Given the description of an element on the screen output the (x, y) to click on. 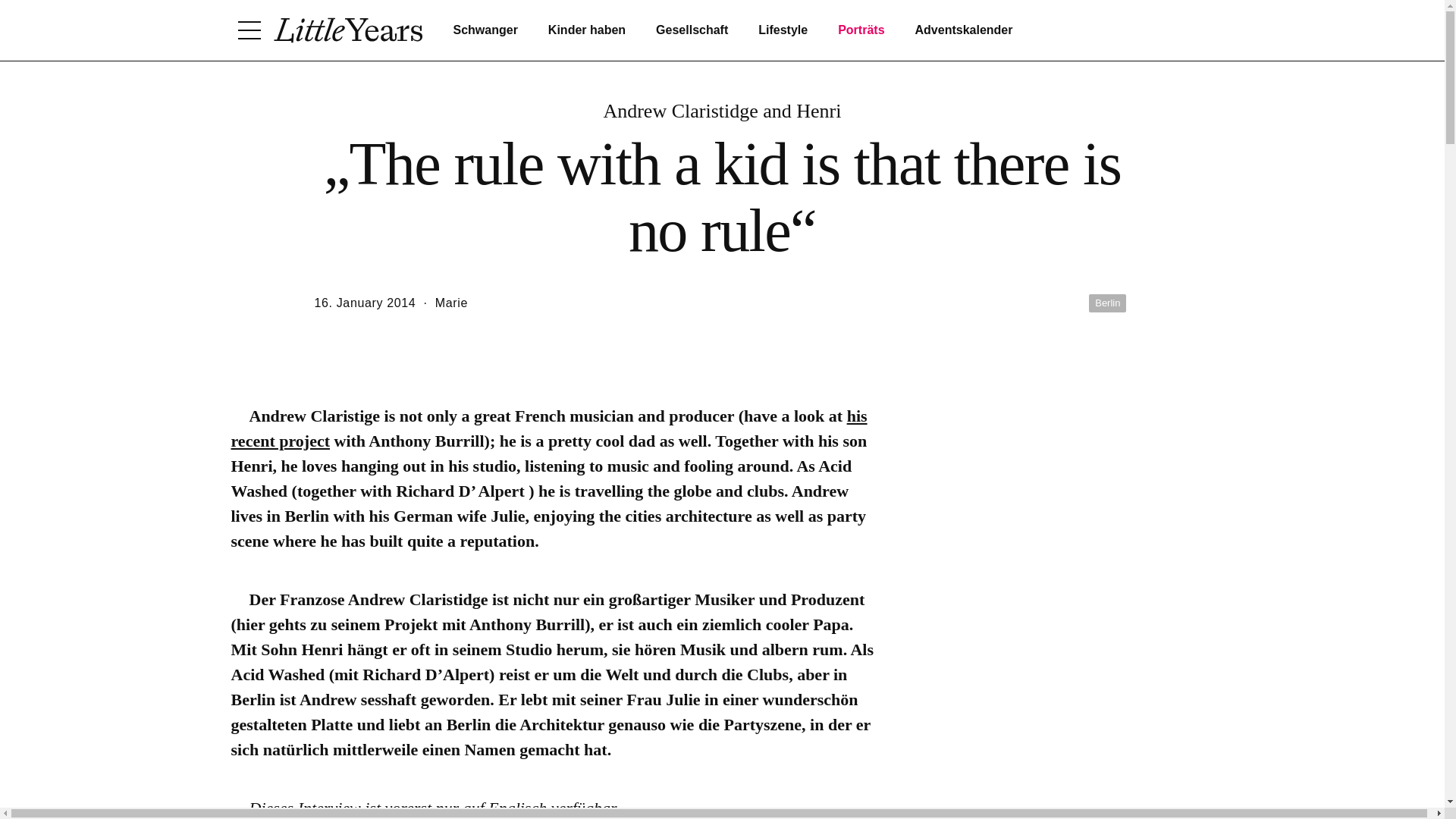
Little Years (347, 30)
Lifestyle (783, 29)
Adventskalender (964, 29)
Posts by marie (451, 302)
Schwanger (485, 29)
Gesellschaft (692, 29)
Kinder haben (587, 29)
